Given the description of an element on the screen output the (x, y) to click on. 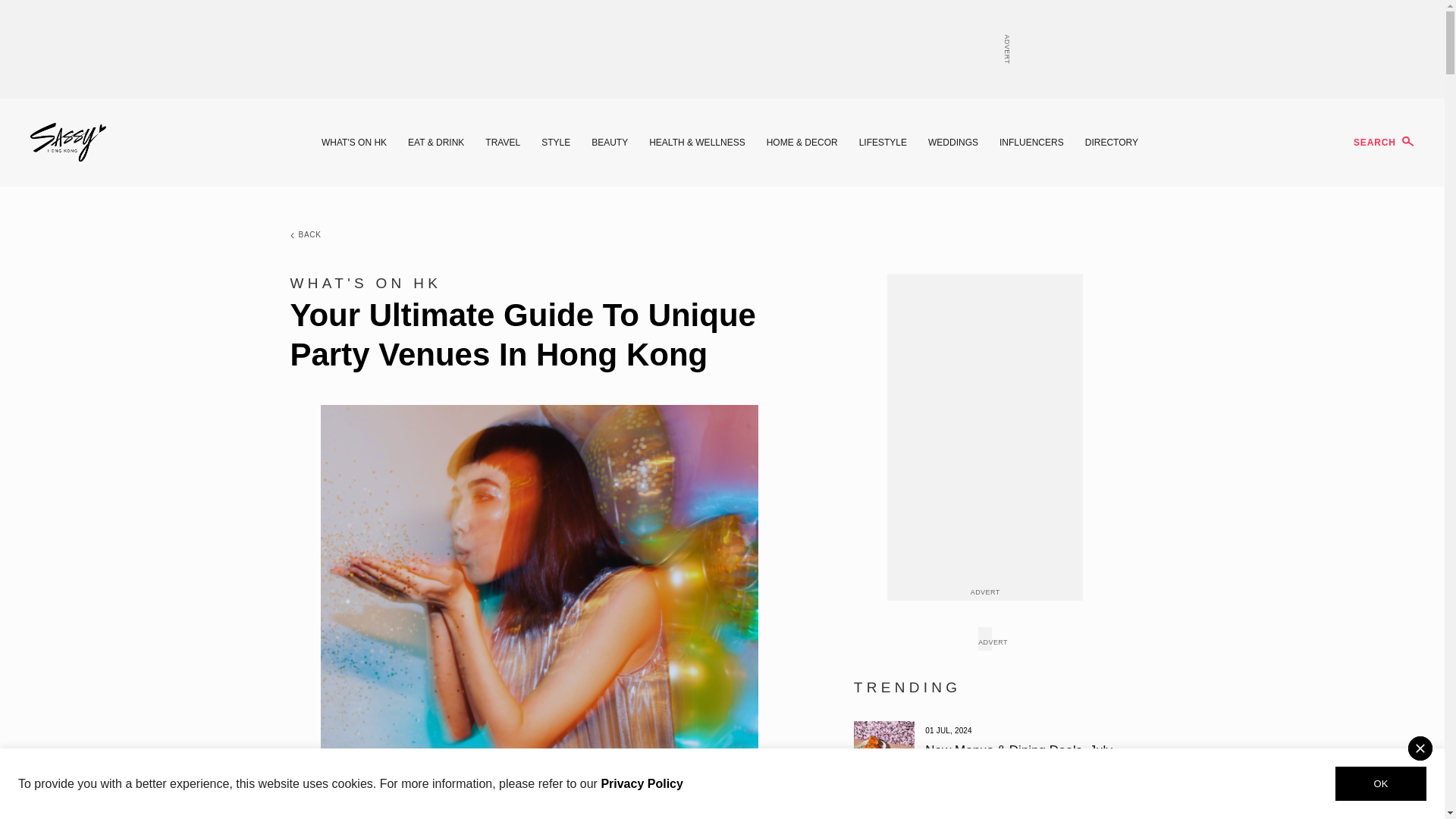
3rd party ad content (721, 49)
TRAVEL (501, 142)
Sassy Hong Kong (68, 142)
WHAT'S ON HK (354, 142)
